Given the description of an element on the screen output the (x, y) to click on. 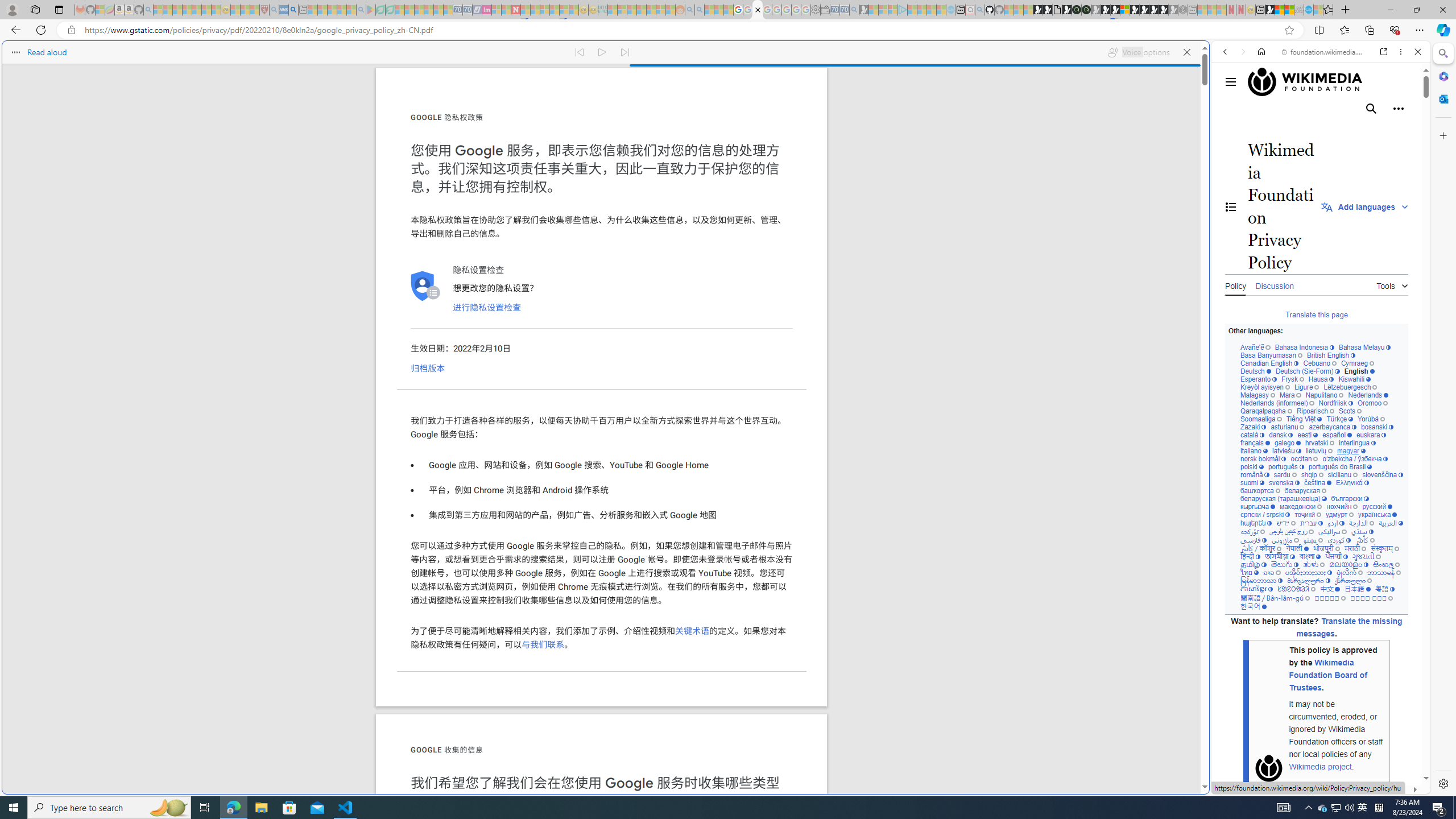
Jobs - lastminute.com Investor Portal - Sleeping (486, 9)
sardu (1285, 474)
Zazaki (1253, 427)
